Given the description of an element on the screen output the (x, y) to click on. 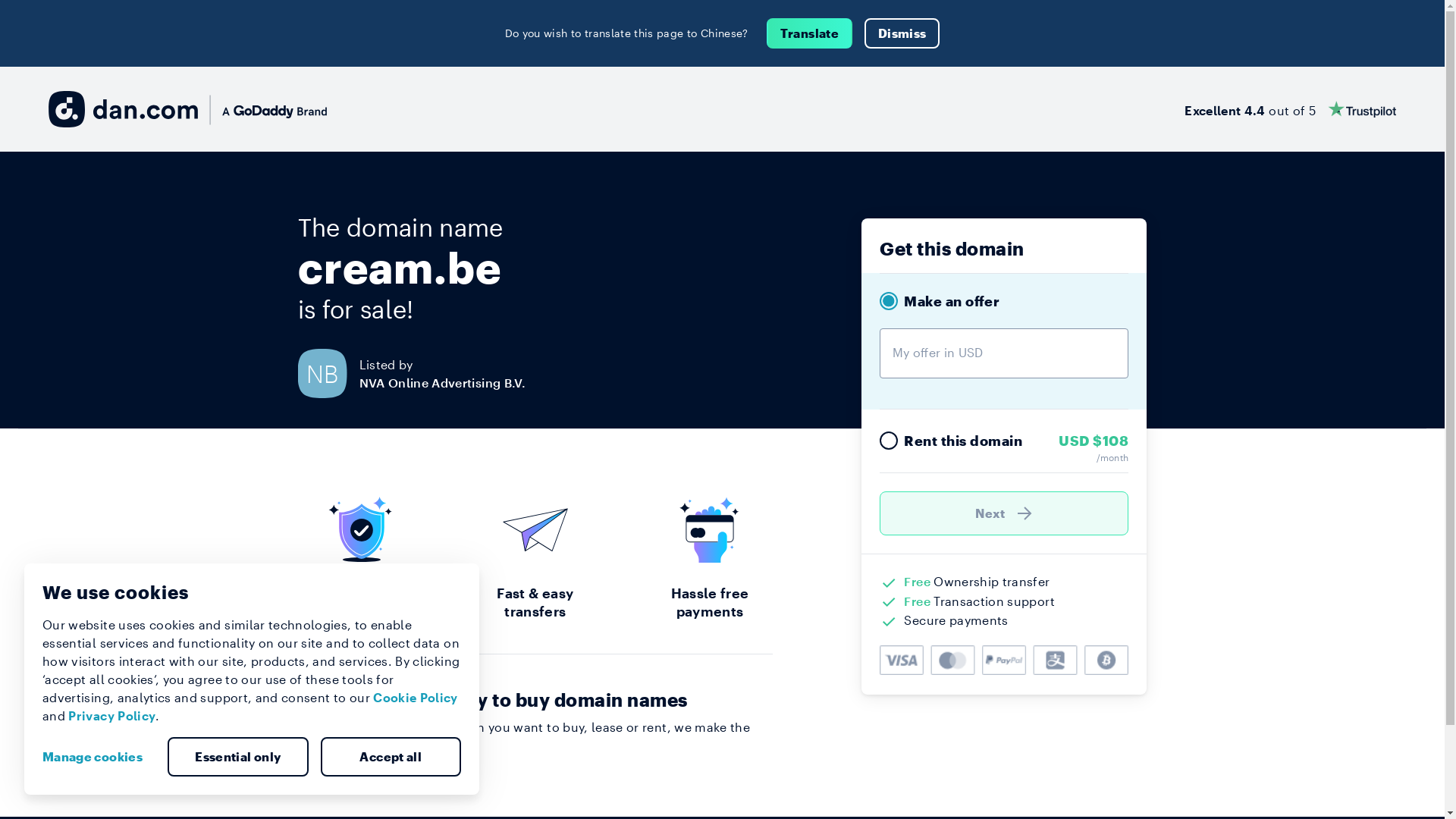
Excellent 4.4 out of 5 Element type: text (1290, 109)
Accept all Element type: text (390, 756)
Dismiss Element type: text (901, 33)
Manage cookies Element type: text (98, 756)
Essential only Element type: text (237, 756)
Cookie Policy Element type: text (415, 697)
Privacy Policy Element type: text (111, 715)
Next
) Element type: text (1003, 513)
Translate Element type: text (809, 33)
